Given the description of an element on the screen output the (x, y) to click on. 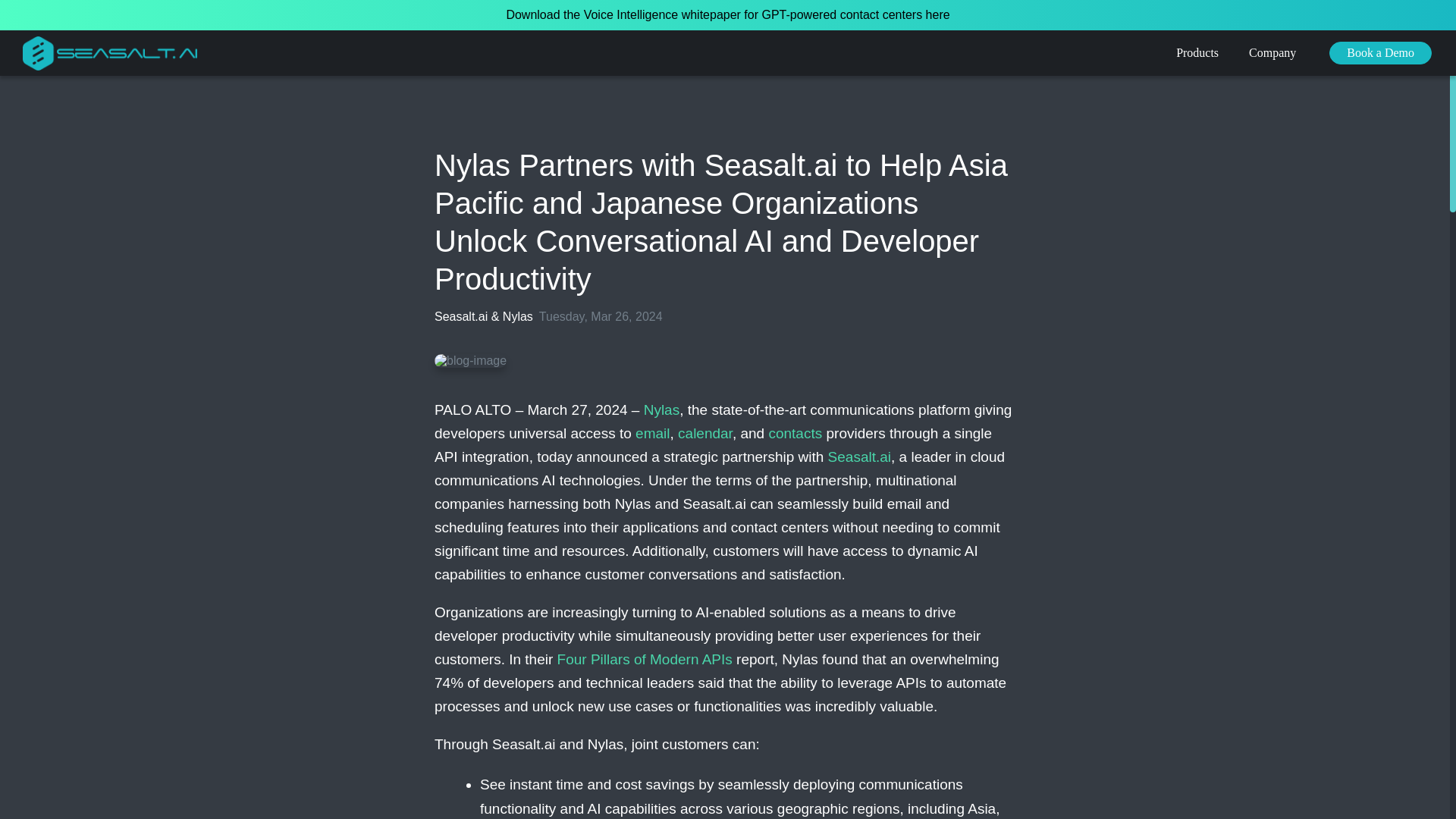
email (651, 433)
contacts (795, 433)
Four Pillars of Modern APIs (644, 659)
Seasalt.ai (859, 456)
calendar (705, 433)
Book a Demo (1380, 52)
Nylas (661, 409)
